Given the description of an element on the screen output the (x, y) to click on. 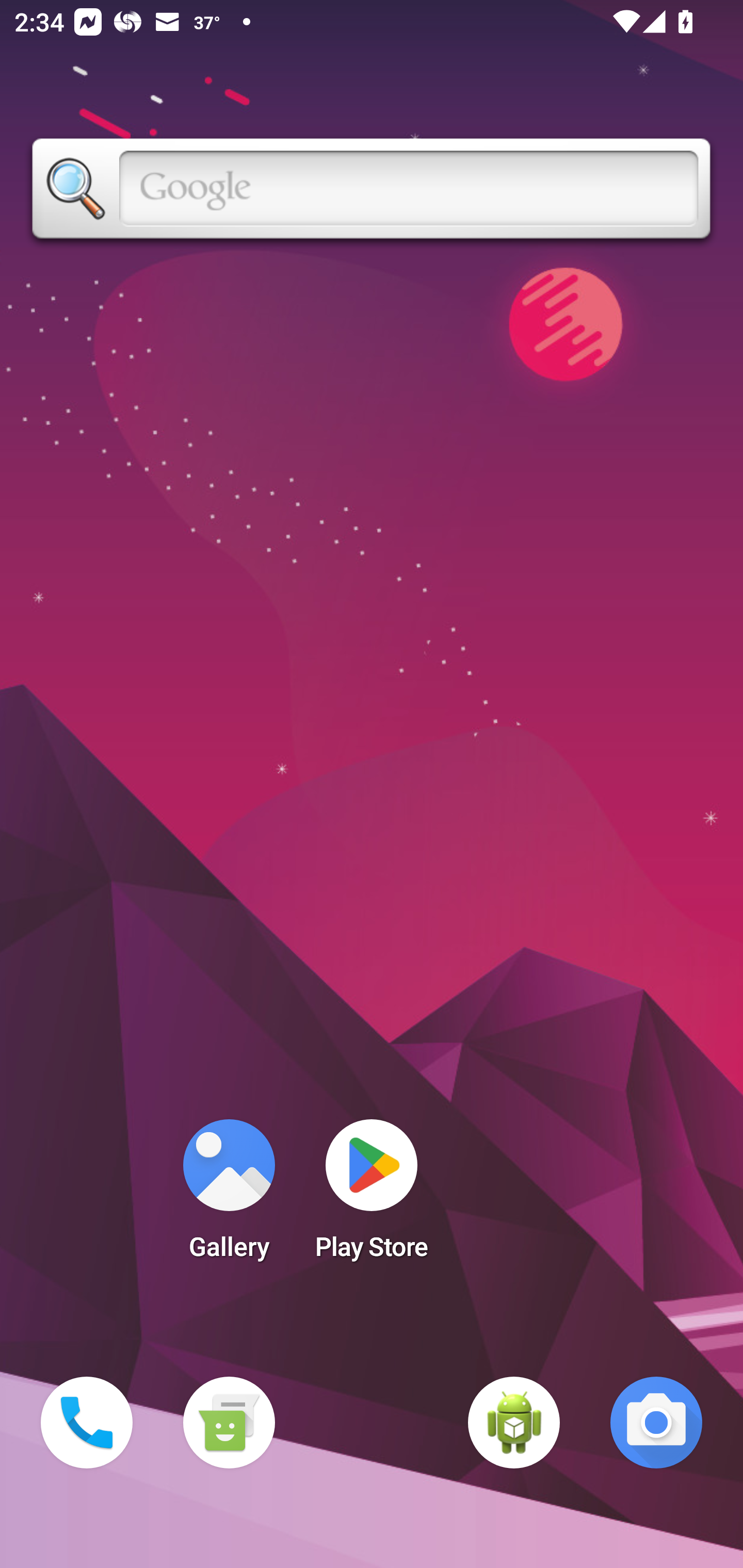
Gallery (228, 1195)
Play Store (371, 1195)
Phone (86, 1422)
Messaging (228, 1422)
WebView Browser Tester (513, 1422)
Camera (656, 1422)
